Given the description of an element on the screen output the (x, y) to click on. 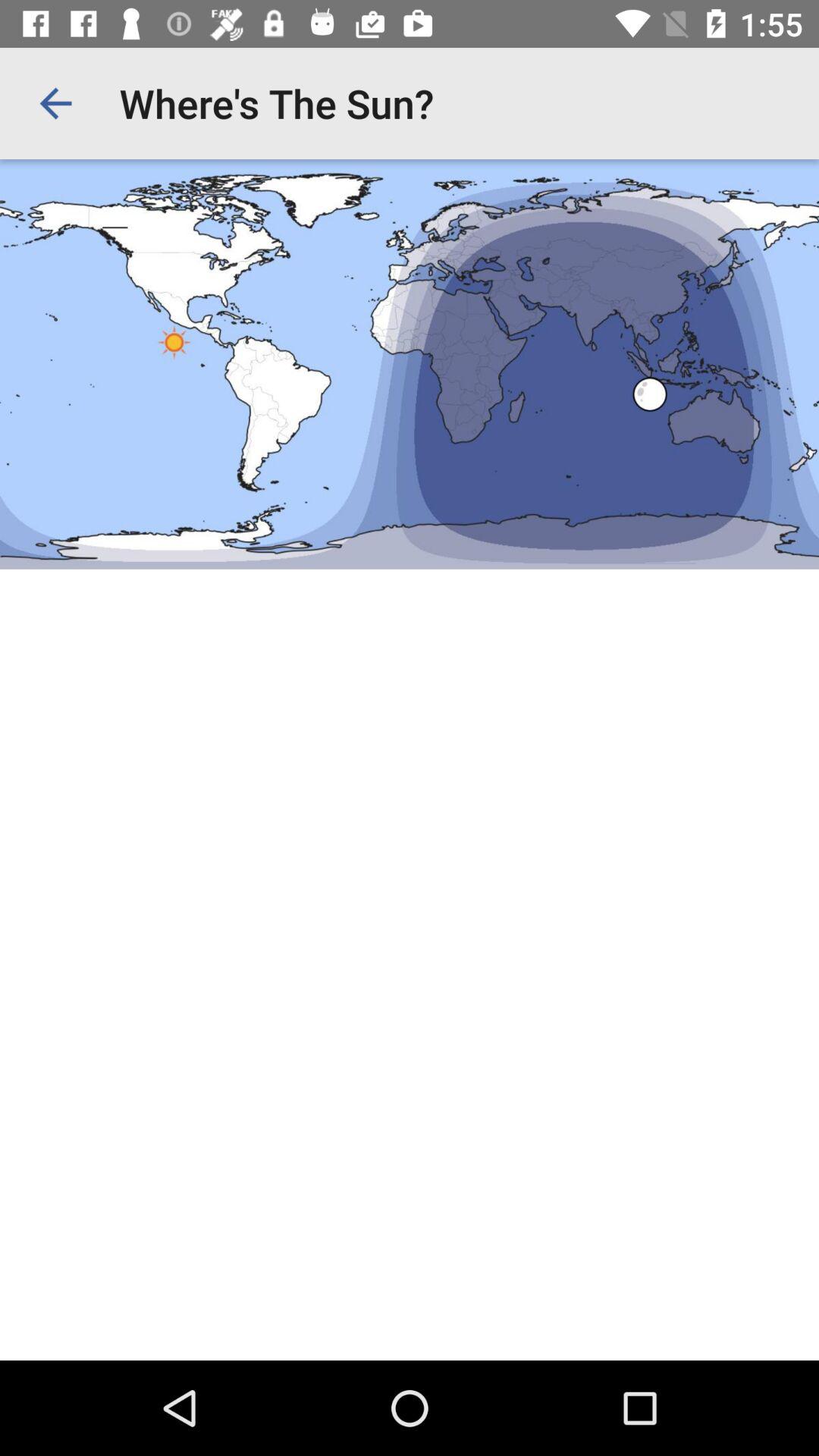
google page (409, 709)
